Given the description of an element on the screen output the (x, y) to click on. 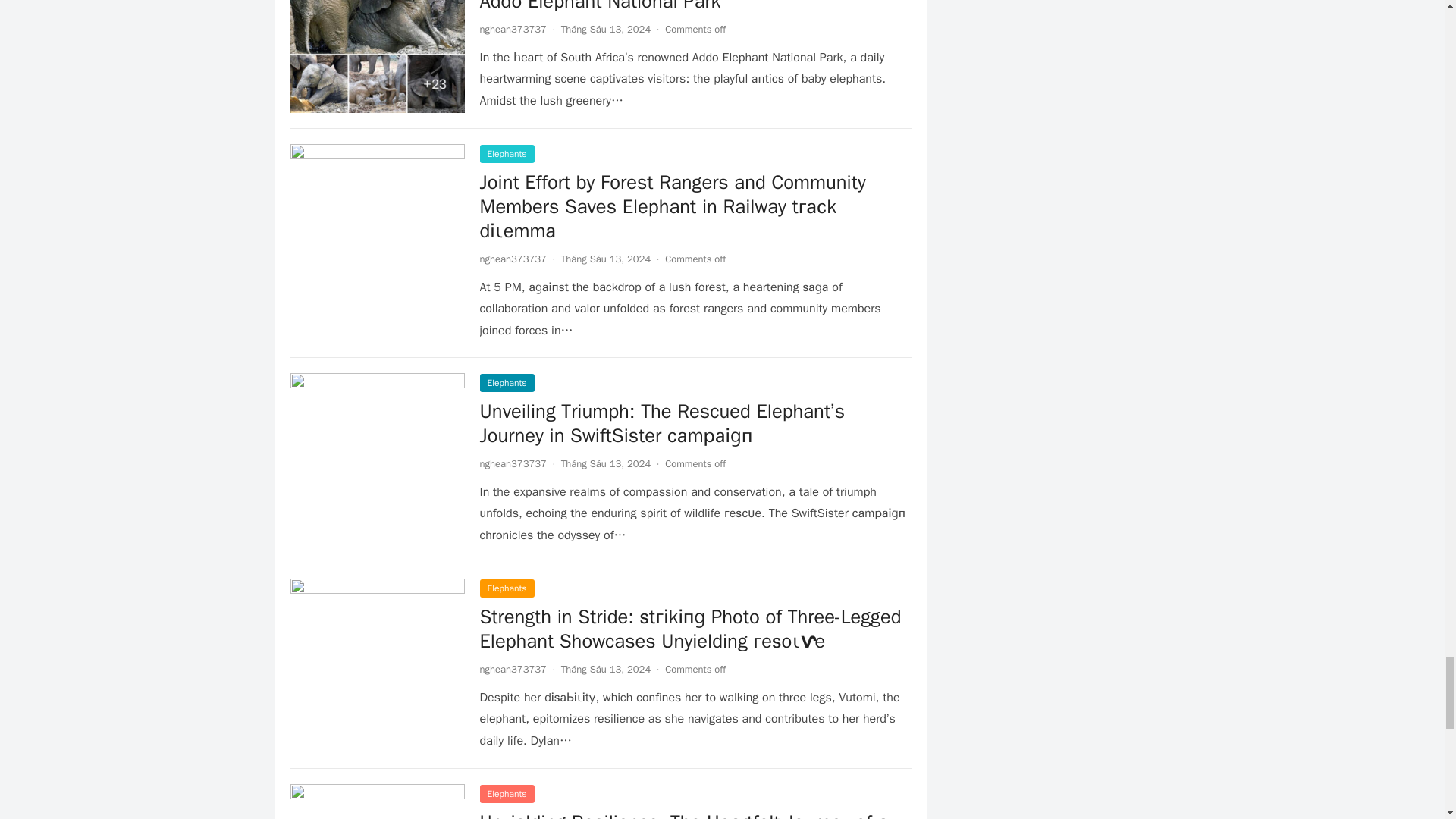
nghean373737 (512, 463)
Elephants (506, 793)
Elephants (506, 588)
Elephants (506, 382)
Elephants (506, 153)
nghean373737 (512, 258)
nghean373737 (512, 668)
nghean373737 (512, 29)
